Given the description of an element on the screen output the (x, y) to click on. 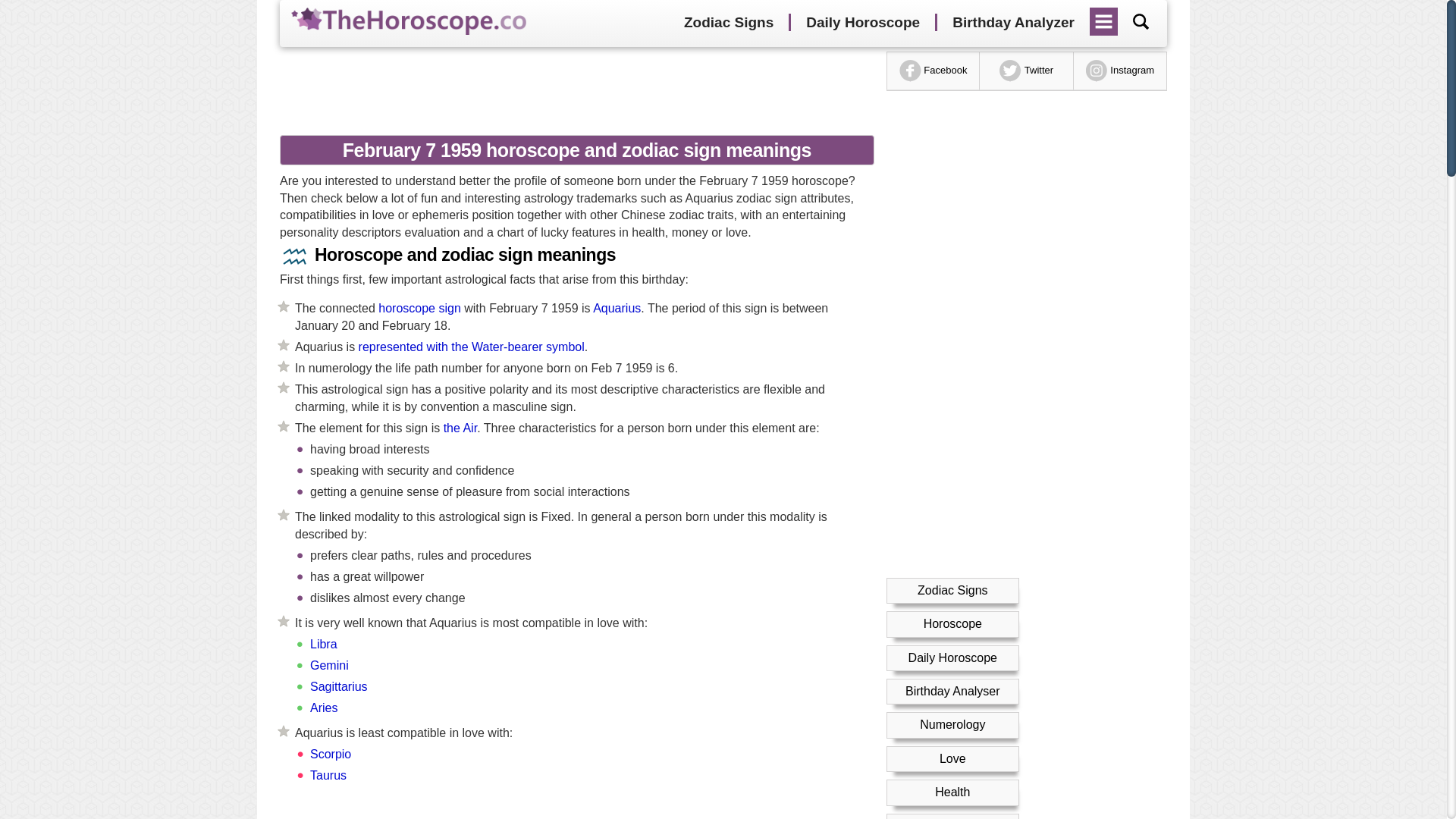
Numerology (952, 724)
Zodiac Signs (728, 22)
Birthday Analyzer (1013, 22)
Daily Horoscope (862, 22)
Health (952, 791)
Advertisement (571, 810)
Advertisement (571, 88)
Birthday Analyser (952, 690)
Search by your birthday... (1140, 21)
Daily Horoscope (952, 657)
